Given the description of an element on the screen output the (x, y) to click on. 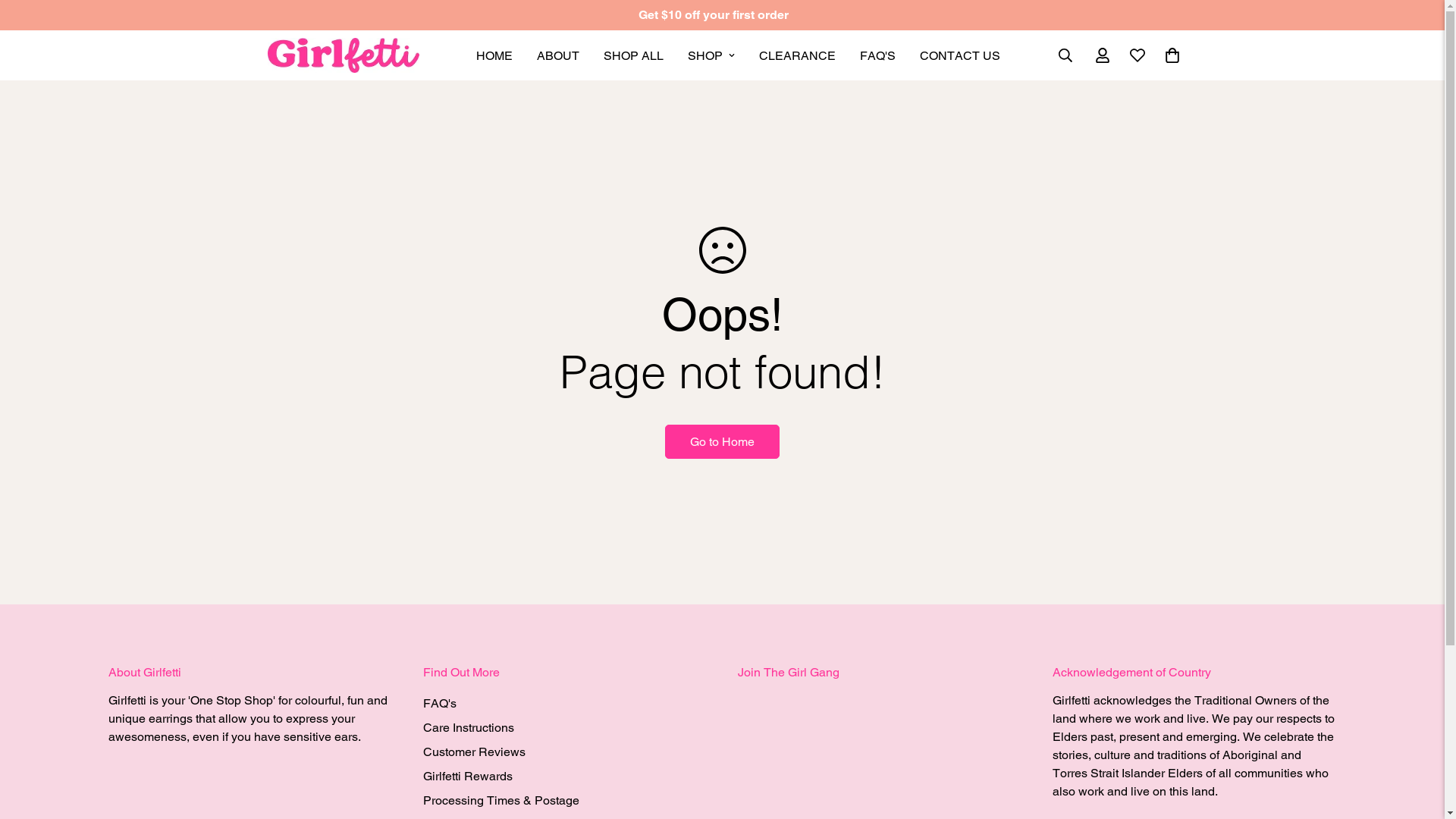
Go to Home Element type: text (722, 441)
FAQ'S Element type: text (877, 55)
Customer Reviews Element type: text (474, 752)
ABOUT Element type: text (557, 55)
HOME Element type: text (494, 55)
SHOP ALL Element type: text (633, 55)
KIN & PAR PTY LTD Element type: hover (342, 55)
CONTACT US Element type: text (959, 55)
Processing Times & Postage Element type: text (501, 800)
FAQ's Element type: text (439, 703)
Girlfetti Rewards Element type: text (467, 776)
SHOP Element type: text (710, 55)
Care Instructions Element type: text (468, 727)
CLEARANCE Element type: text (796, 55)
